Given the description of an element on the screen output the (x, y) to click on. 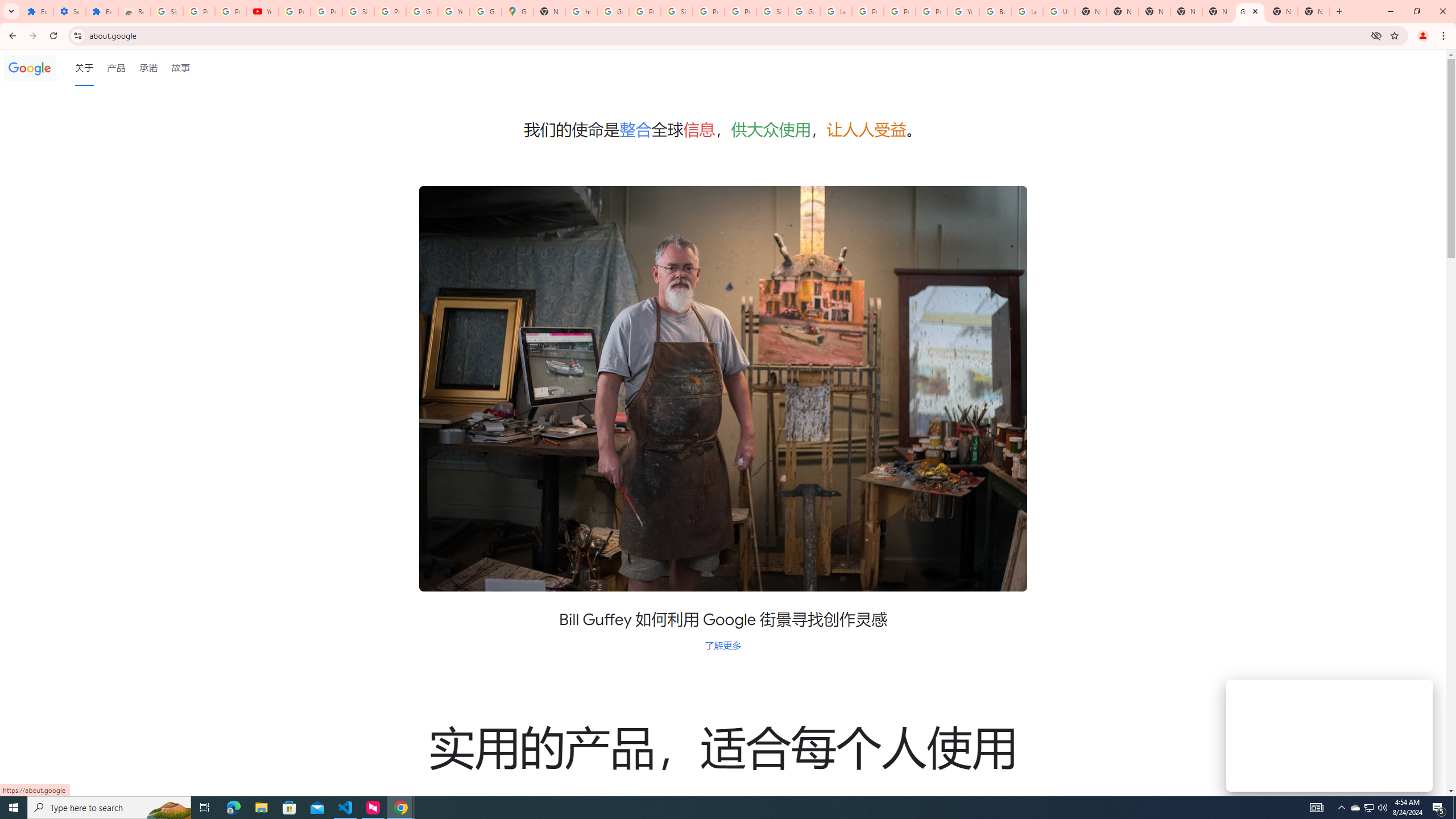
Google Account (421, 11)
Sign in - Google Accounts (772, 11)
Google (29, 67)
